Given the description of an element on the screen output the (x, y) to click on. 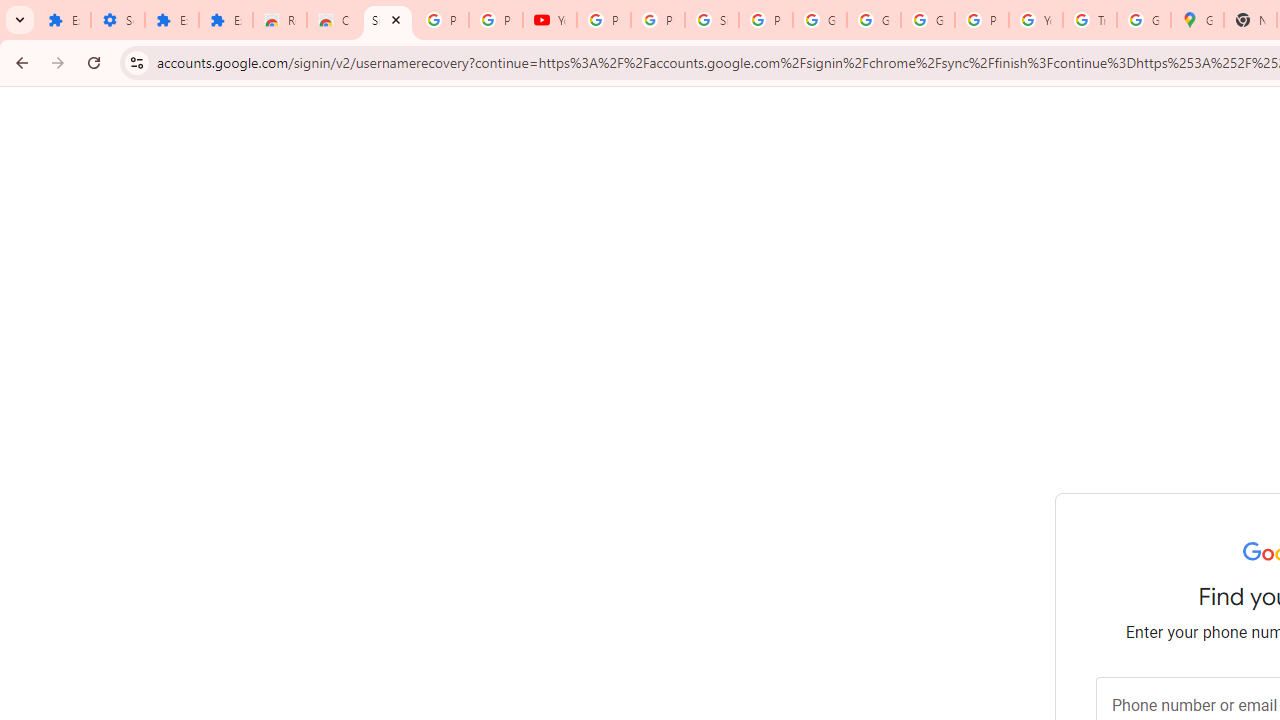
Chrome Web Store - Themes (333, 20)
YouTube (550, 20)
Extensions (171, 20)
Google Account (874, 20)
Google Maps (1197, 20)
Reviews: Helix Fruit Jump Arcade Game (280, 20)
Google Account (819, 20)
